Given the description of an element on the screen output the (x, y) to click on. 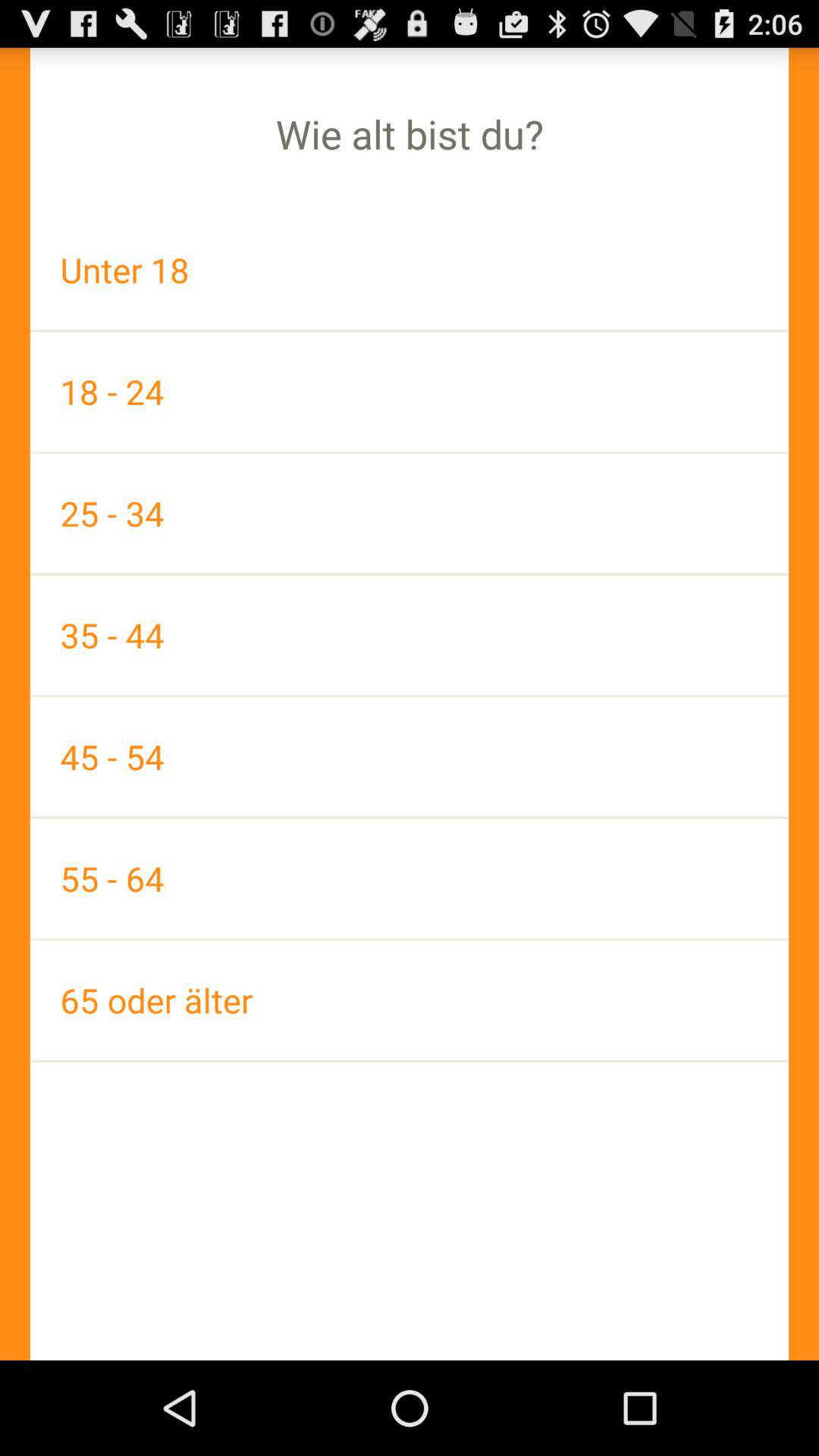
swipe to the 18 - 24 item (409, 391)
